Given the description of an element on the screen output the (x, y) to click on. 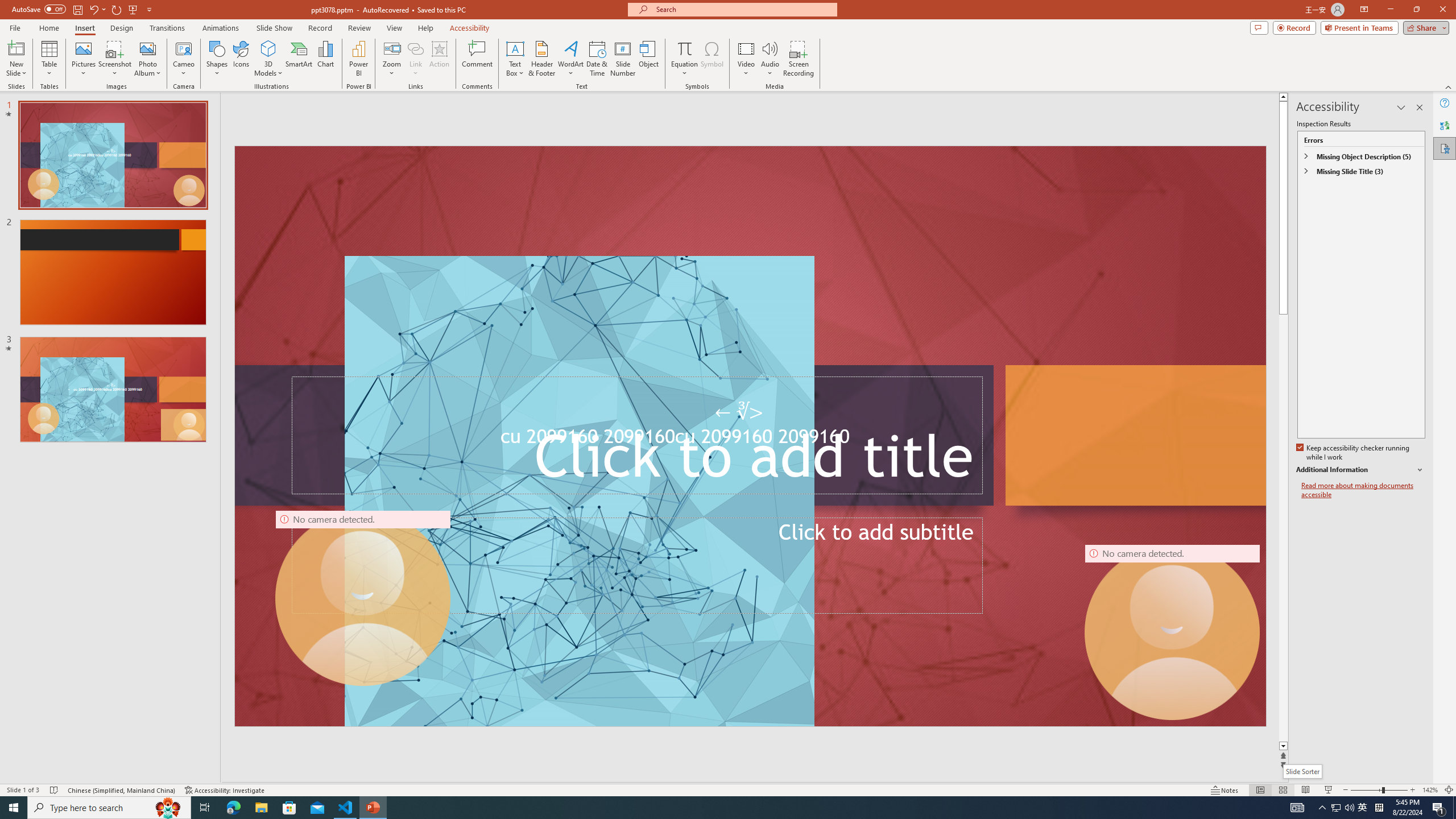
Translator (1444, 125)
Shapes (216, 58)
Zoom to Fit  (1449, 790)
Page down (1284, 528)
Camera 9, No camera detected. (363, 597)
Customize Quick Access Toolbar (149, 9)
Spell Check No Errors (54, 790)
3D Models (268, 48)
Insert (83, 28)
Keep accessibility checker running while I work (1353, 452)
Chart... (325, 58)
Draw Horizontal Text Box (515, 48)
